Given the description of an element on the screen output the (x, y) to click on. 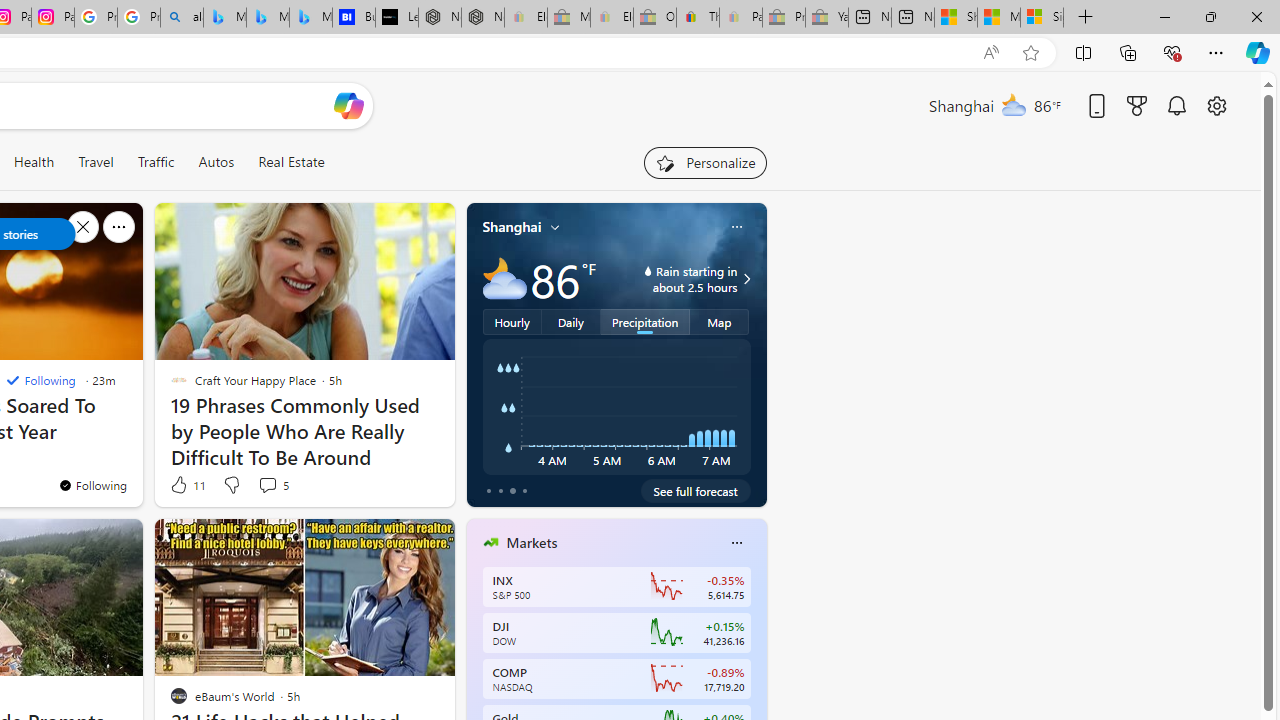
Close (1256, 16)
View comments 5 Comment (267, 485)
See full forecast (695, 490)
Yard, Garden & Outdoor Living - Sleeping (827, 17)
Rain starting in about 2.5 hours (744, 278)
Markets (531, 543)
Daily (571, 321)
Class: icon-img (736, 542)
Microsoft rewards (1137, 105)
Sign in to your Microsoft account (1042, 17)
Collections (1128, 52)
water-drop-icon (648, 270)
